Given the description of an element on the screen output the (x, y) to click on. 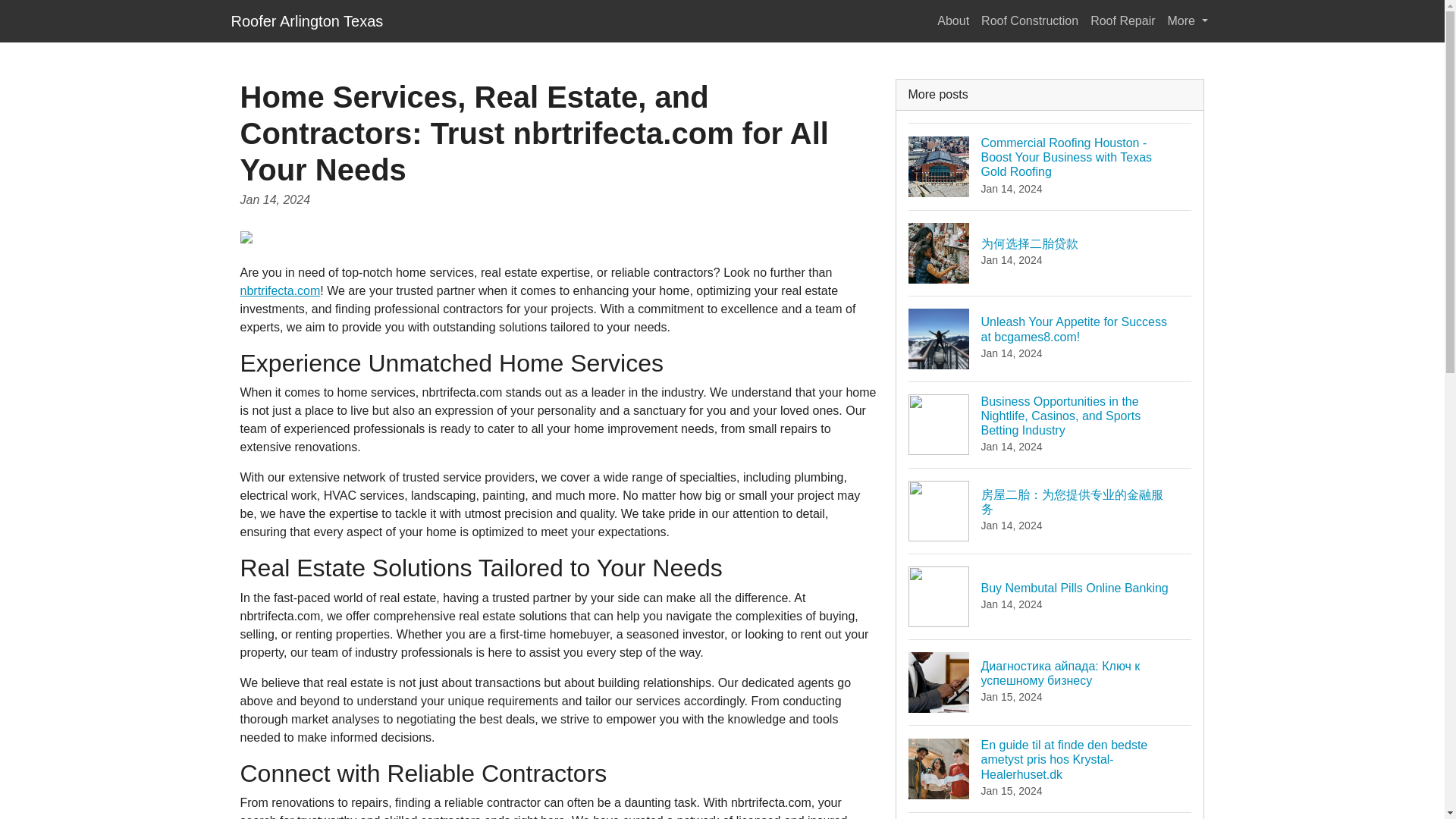
More (1187, 20)
Roof Construction (1050, 596)
About (1029, 20)
Roof Repair (953, 20)
Roofer Arlington Texas (1122, 20)
